Given the description of an element on the screen output the (x, y) to click on. 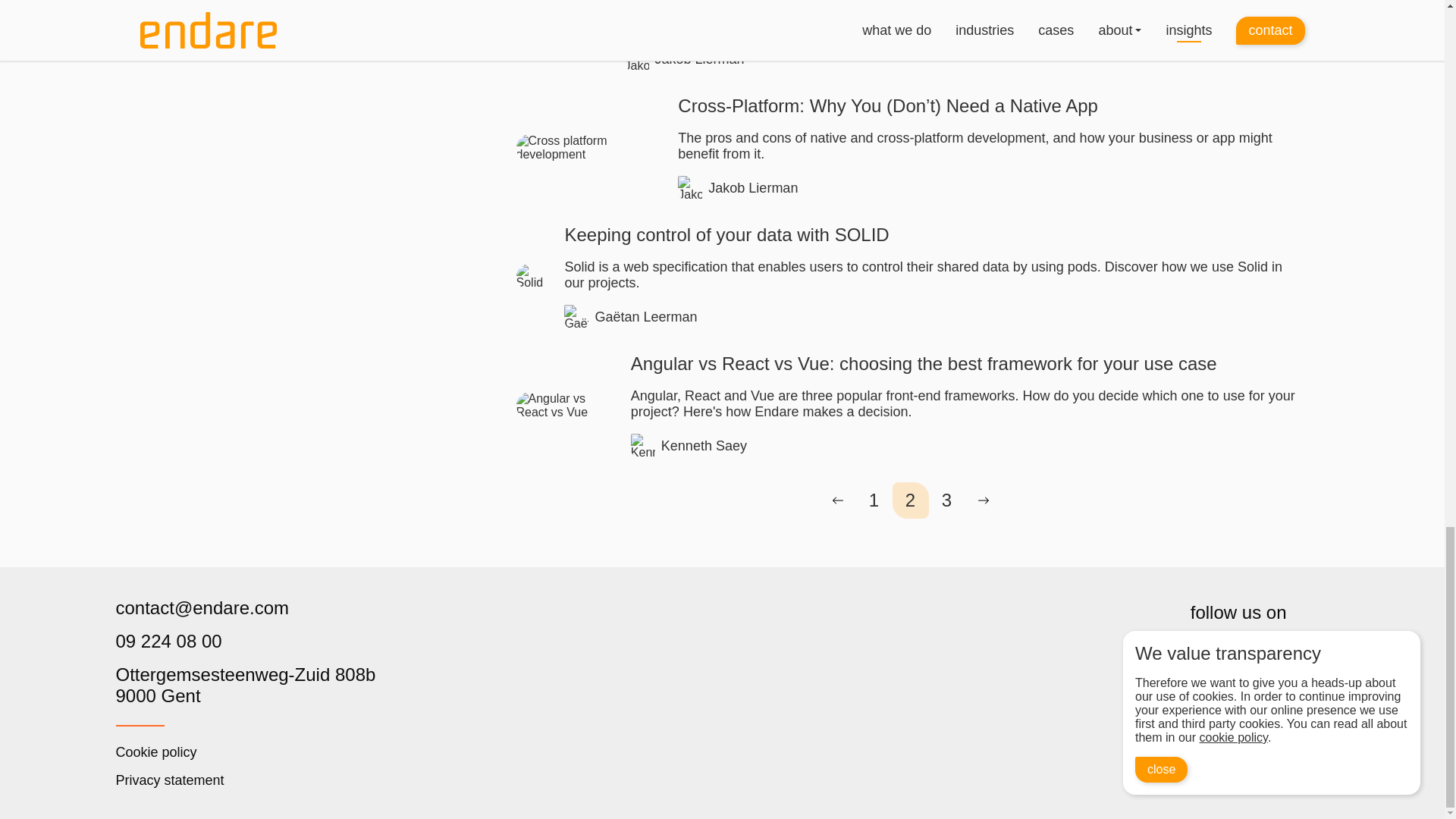
09 224 08 00 (245, 640)
2 (909, 500)
3 (945, 500)
1 (245, 685)
